Given the description of an element on the screen output the (x, y) to click on. 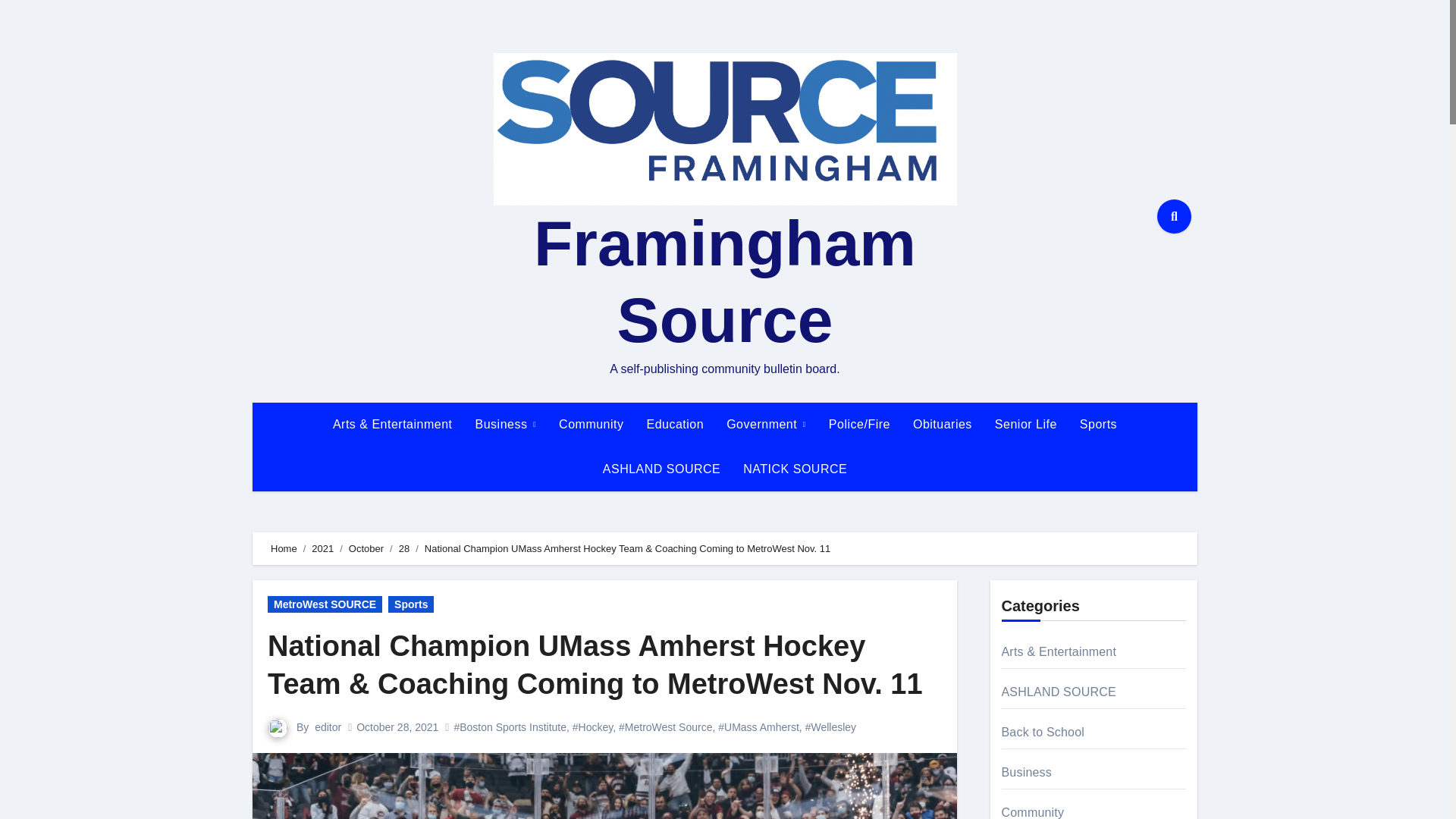
Business (506, 424)
October (366, 548)
Community (590, 424)
28 (403, 548)
Education (675, 424)
Senior Life (1026, 424)
MetroWest SOURCE (324, 604)
Obituaries (942, 424)
2021 (322, 548)
NATICK SOURCE (795, 469)
